Given the description of an element on the screen output the (x, y) to click on. 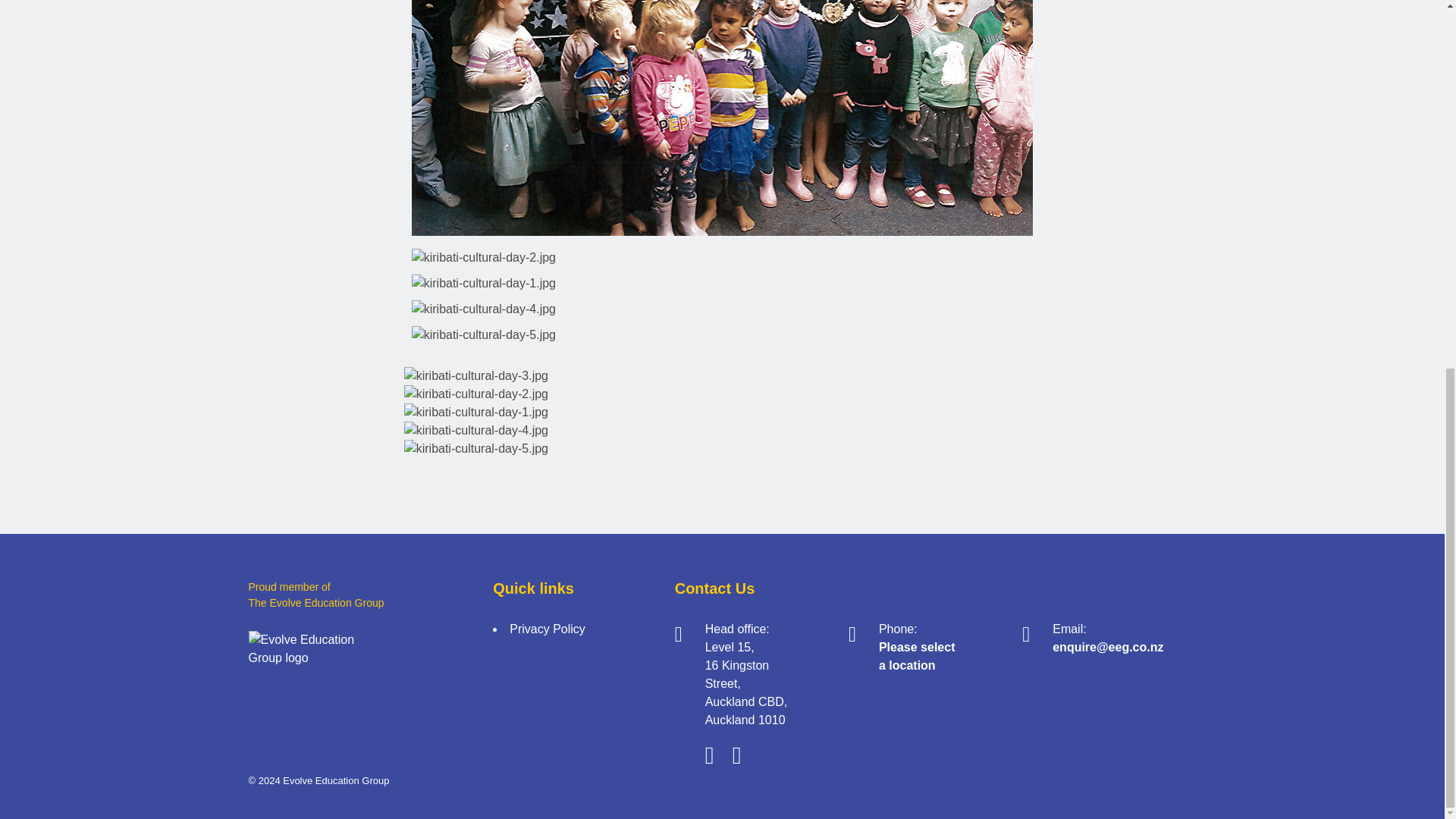
Please select a location (917, 655)
Privacy Policy (547, 628)
